Given the description of an element on the screen output the (x, y) to click on. 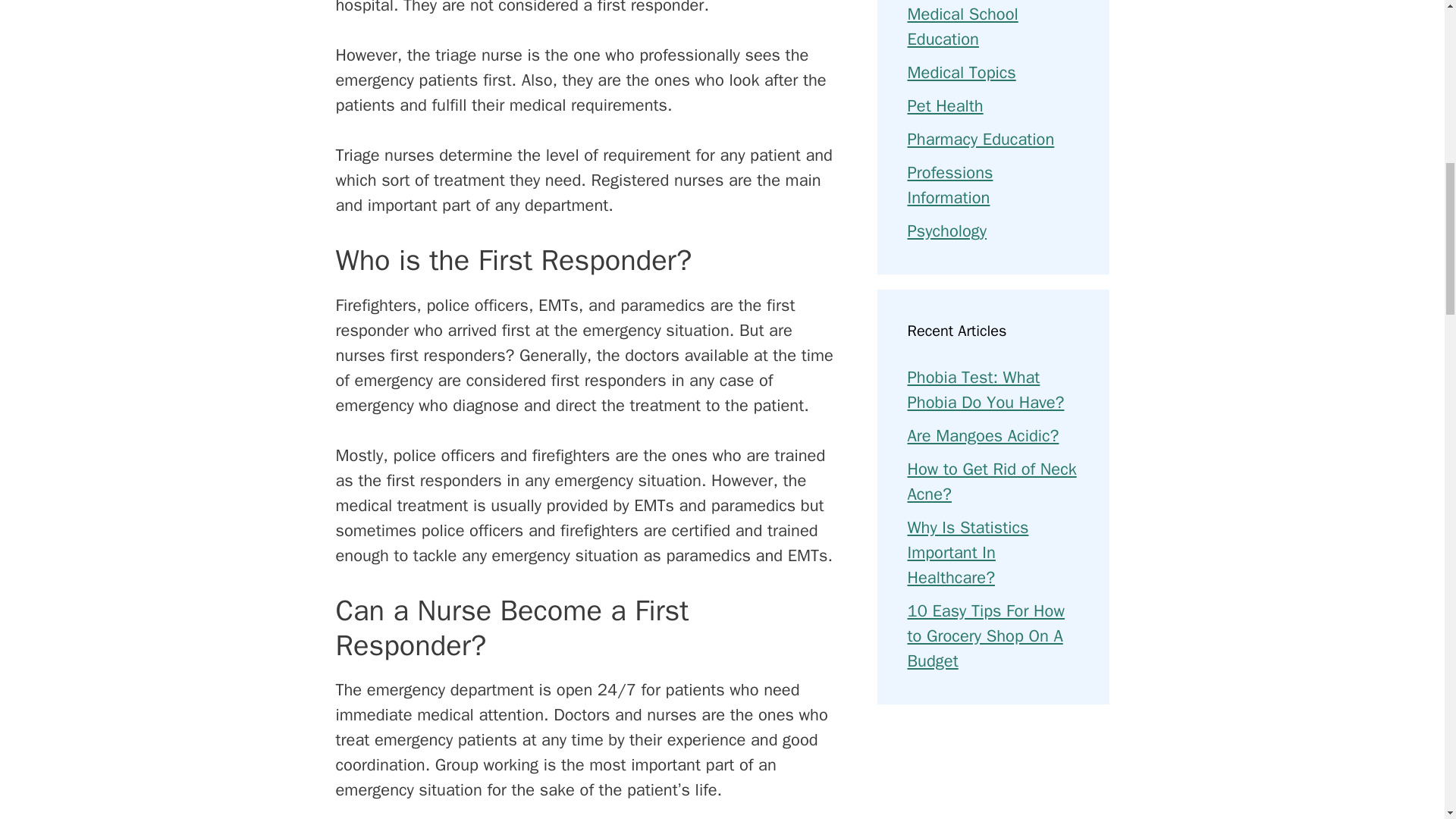
Scroll back to top (1406, 720)
Medical Topics (960, 72)
Medical School Education (962, 26)
Pet Health (944, 106)
